Given the description of an element on the screen output the (x, y) to click on. 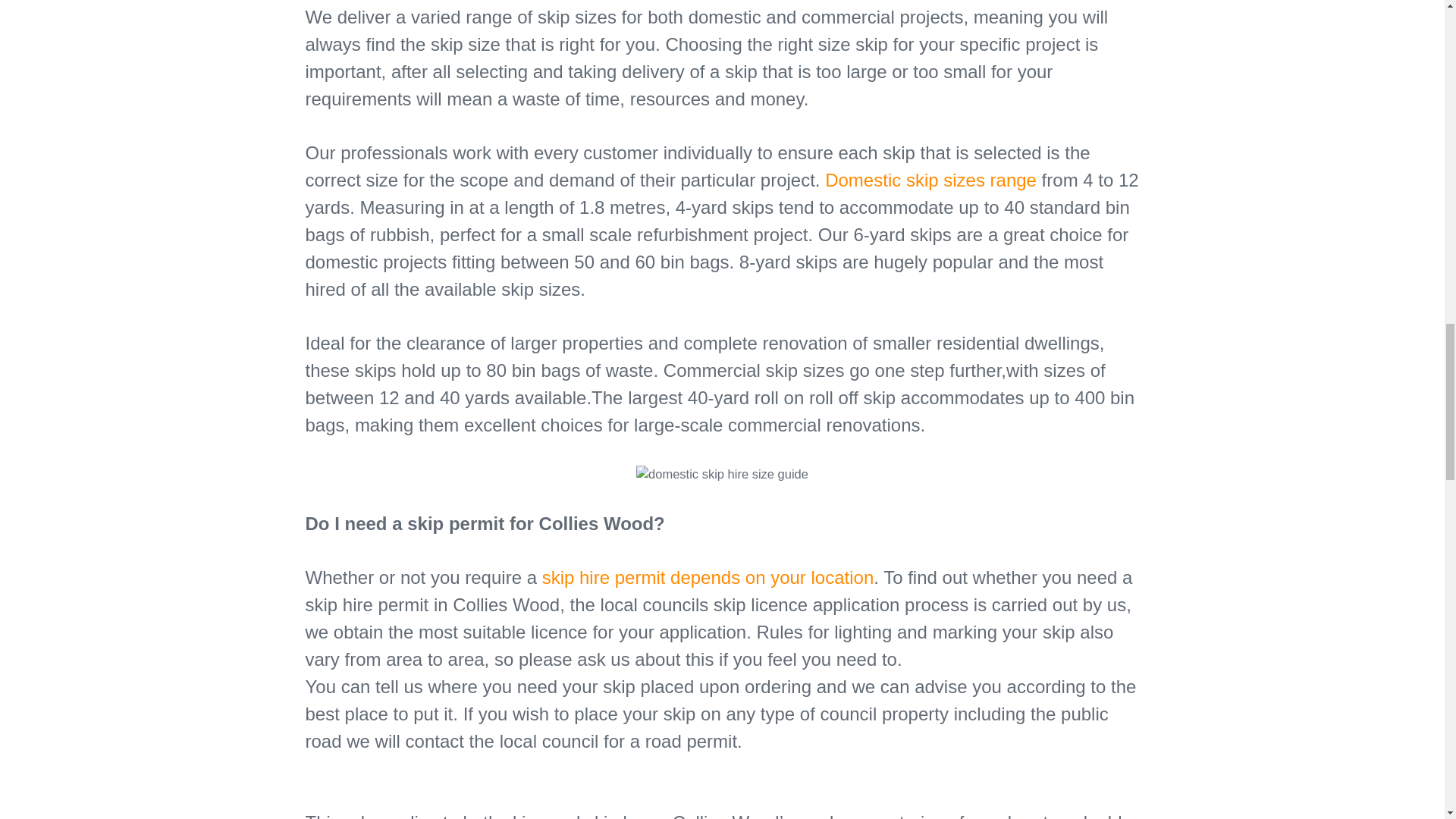
skip hire permit depends on your location (708, 577)
Domestic skip sizes range (930, 179)
